Given the description of an element on the screen output the (x, y) to click on. 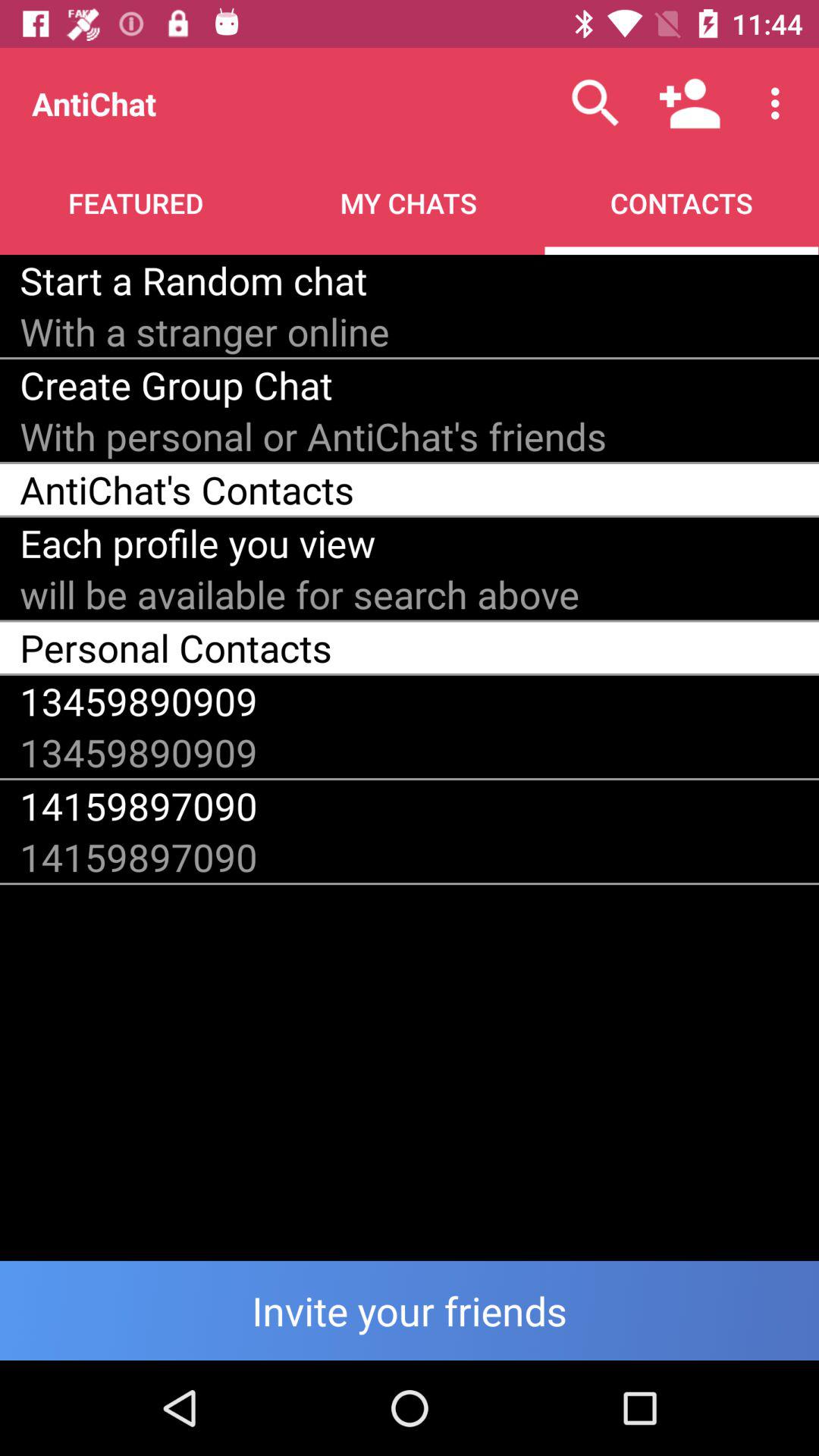
click on the search icon (595, 103)
